Given the description of an element on the screen output the (x, y) to click on. 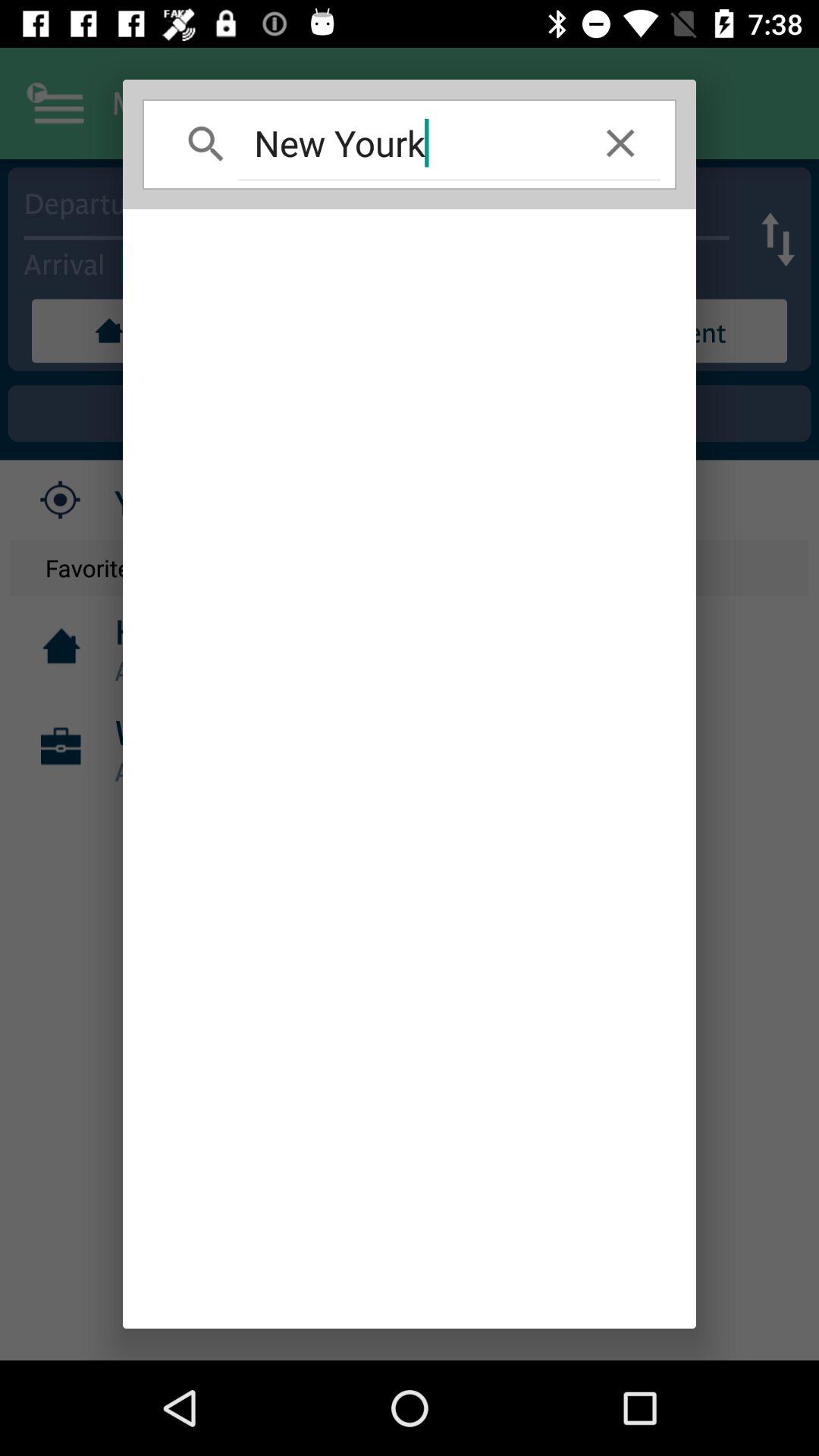
select icon to the right of new yourk item (620, 143)
